Given the description of an element on the screen output the (x, y) to click on. 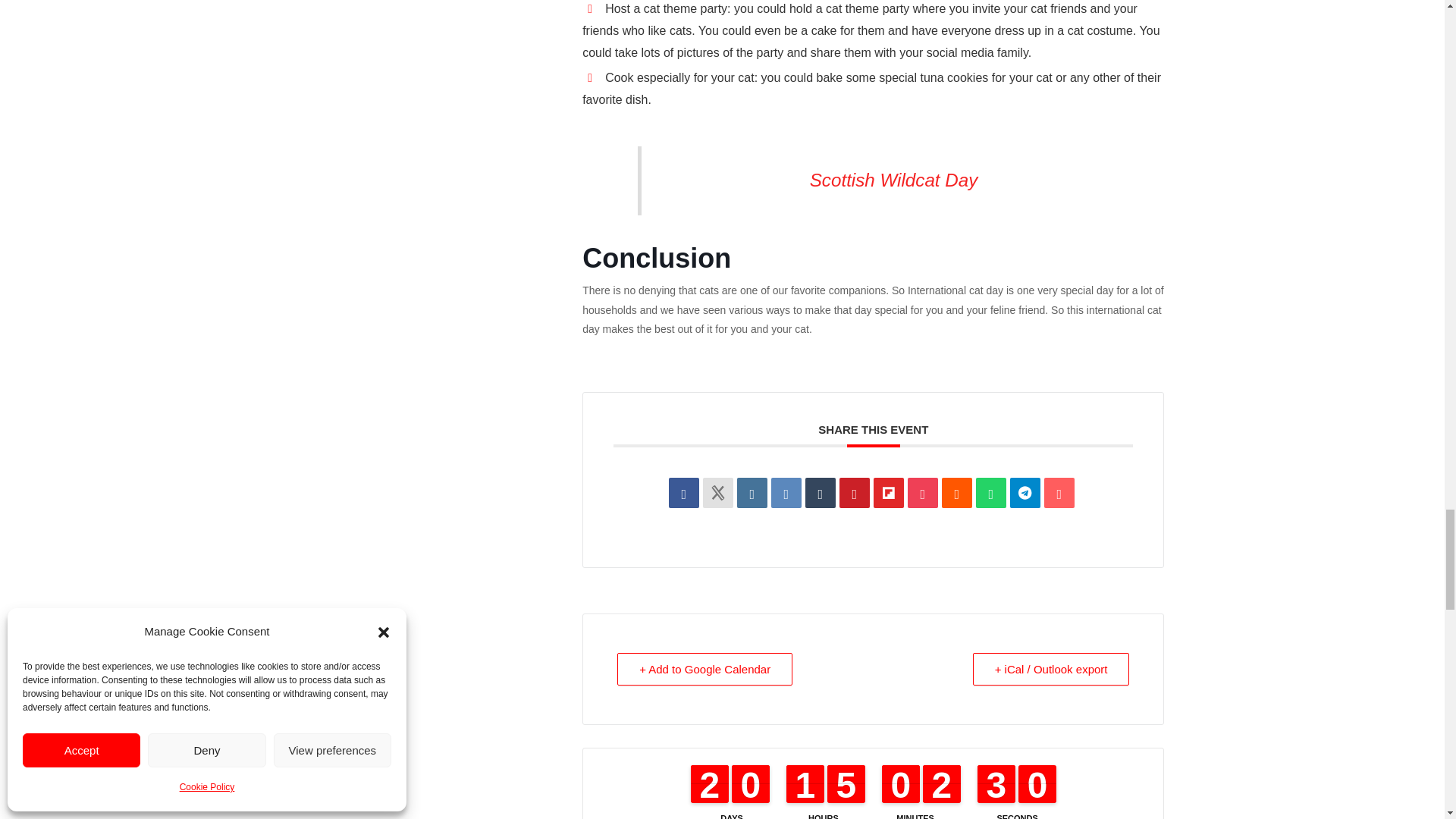
Linkedin (751, 492)
VK (786, 492)
Share on Tumblr (820, 492)
X Social Network (718, 492)
Share on Facebook (683, 492)
